Given the description of an element on the screen output the (x, y) to click on. 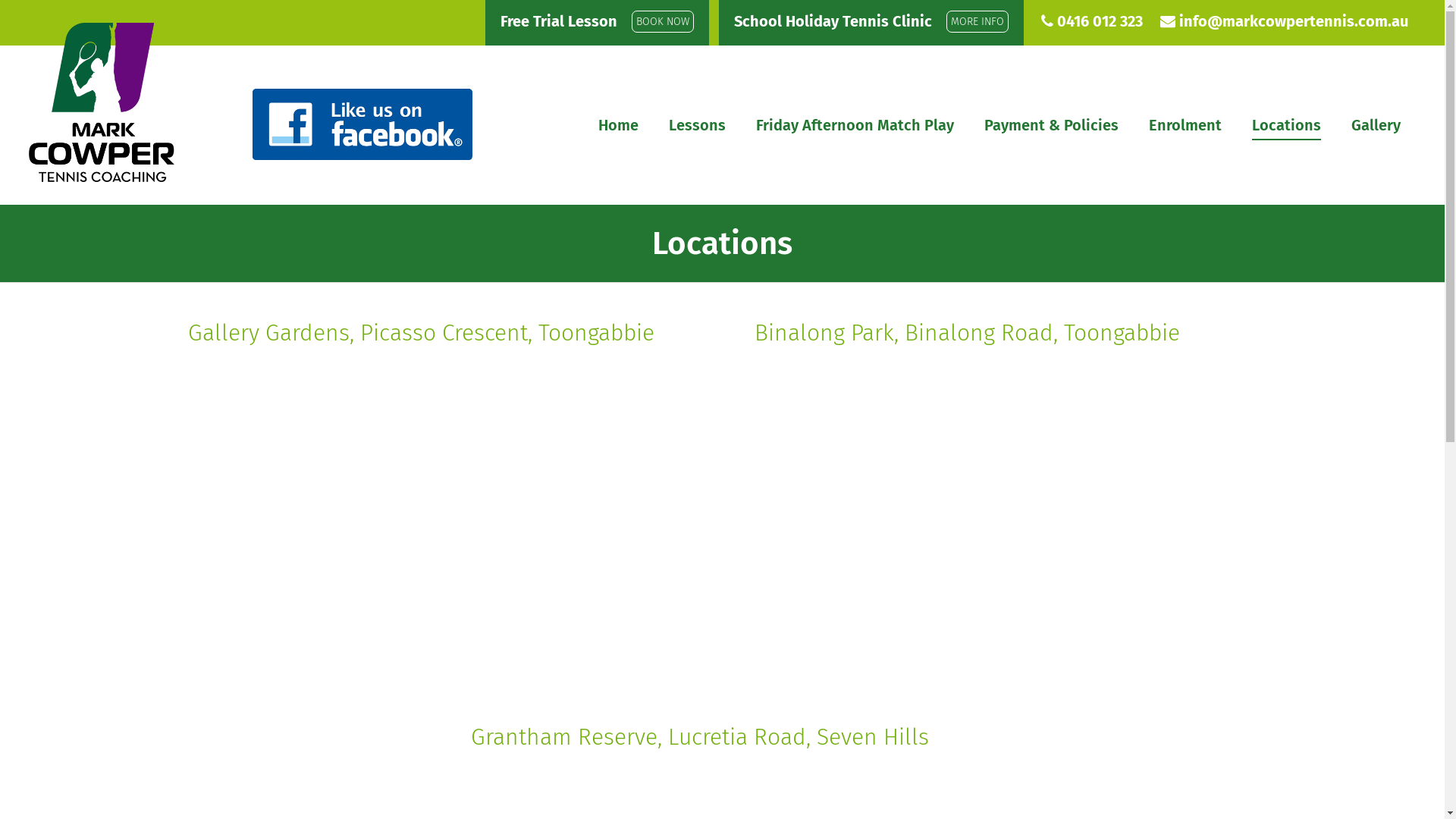
MORE INFO Element type: text (977, 21)
Enrolment Element type: text (1184, 124)
info@markcowpertennis.com.au Element type: text (1293, 21)
Gallery Element type: text (1375, 124)
BOOK NOW Element type: text (662, 21)
Lessons Element type: text (696, 124)
Locations Element type: text (722, 243)
Home Element type: text (618, 124)
Payment & Policies Element type: text (1051, 124)
Friday Afternoon Match Play Element type: text (854, 124)
Locations Element type: text (1286, 124)
